Given the description of an element on the screen output the (x, y) to click on. 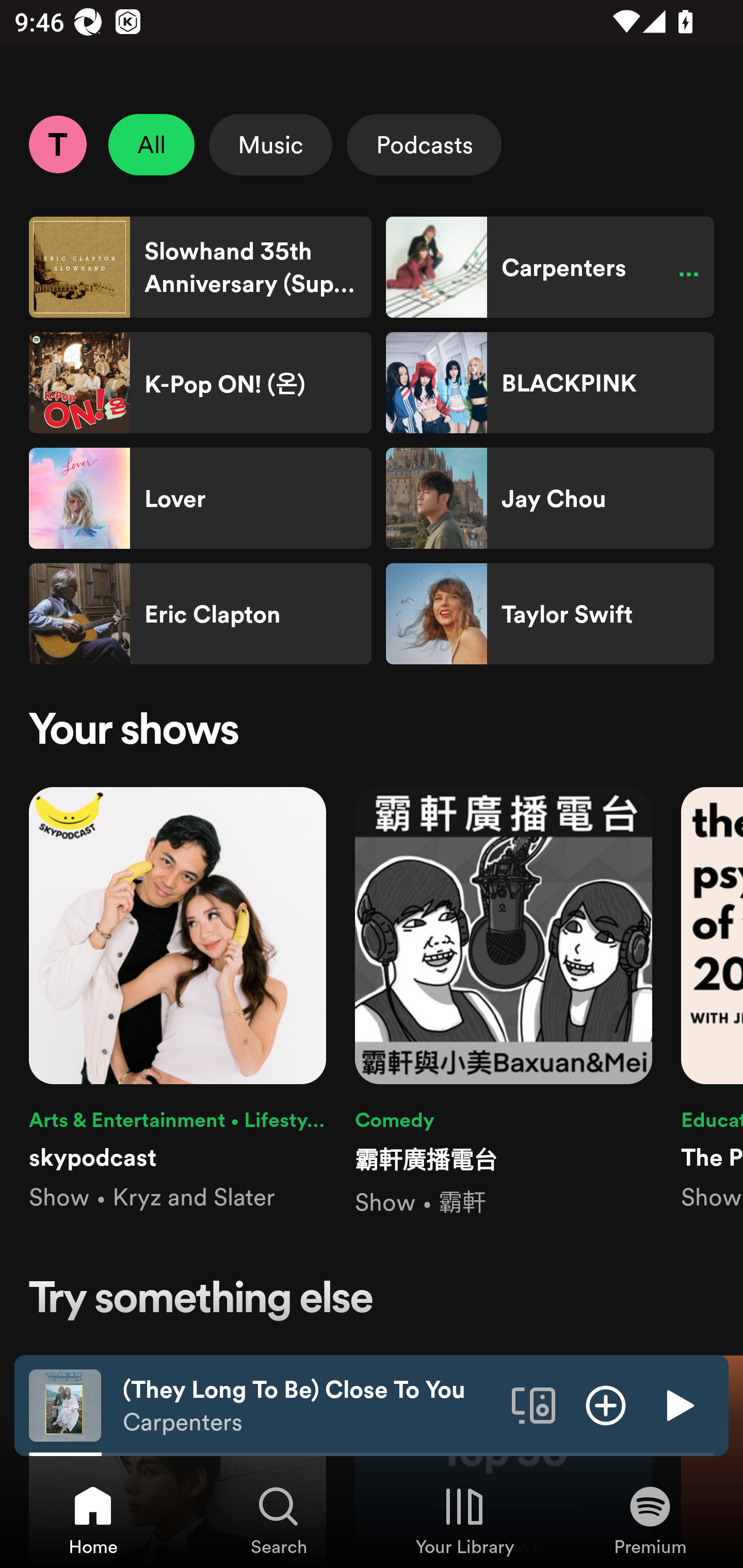
Profile (57, 144)
All Unselect All (151, 144)
Music Select Music (270, 144)
Podcasts Select Podcasts (423, 144)
Carpenters Shortcut Carpenters Paused (549, 267)
K-Pop ON! (온) Shortcut K-Pop ON! (온) (199, 382)
BLACKPINK Shortcut BLACKPINK (549, 382)
Lover Shortcut Lover (199, 498)
Jay Chou Shortcut Jay Chou (549, 498)
Eric Clapton Shortcut Eric Clapton (199, 613)
Taylor Swift Shortcut Taylor Swift (549, 613)
Comedy 霸軒廣播電台 Show • 霸軒 (503, 1002)
(They Long To Be) Close To You Carpenters (309, 1405)
The cover art of the currently playing track (64, 1404)
Connect to a device. Opens the devices menu (533, 1404)
Add item (605, 1404)
Play (677, 1404)
Home, Tab 1 of 4 Home Home (92, 1519)
Search, Tab 2 of 4 Search Search (278, 1519)
Your Library, Tab 3 of 4 Your Library Your Library (464, 1519)
Premium, Tab 4 of 4 Premium Premium (650, 1519)
